Given the description of an element on the screen output the (x, y) to click on. 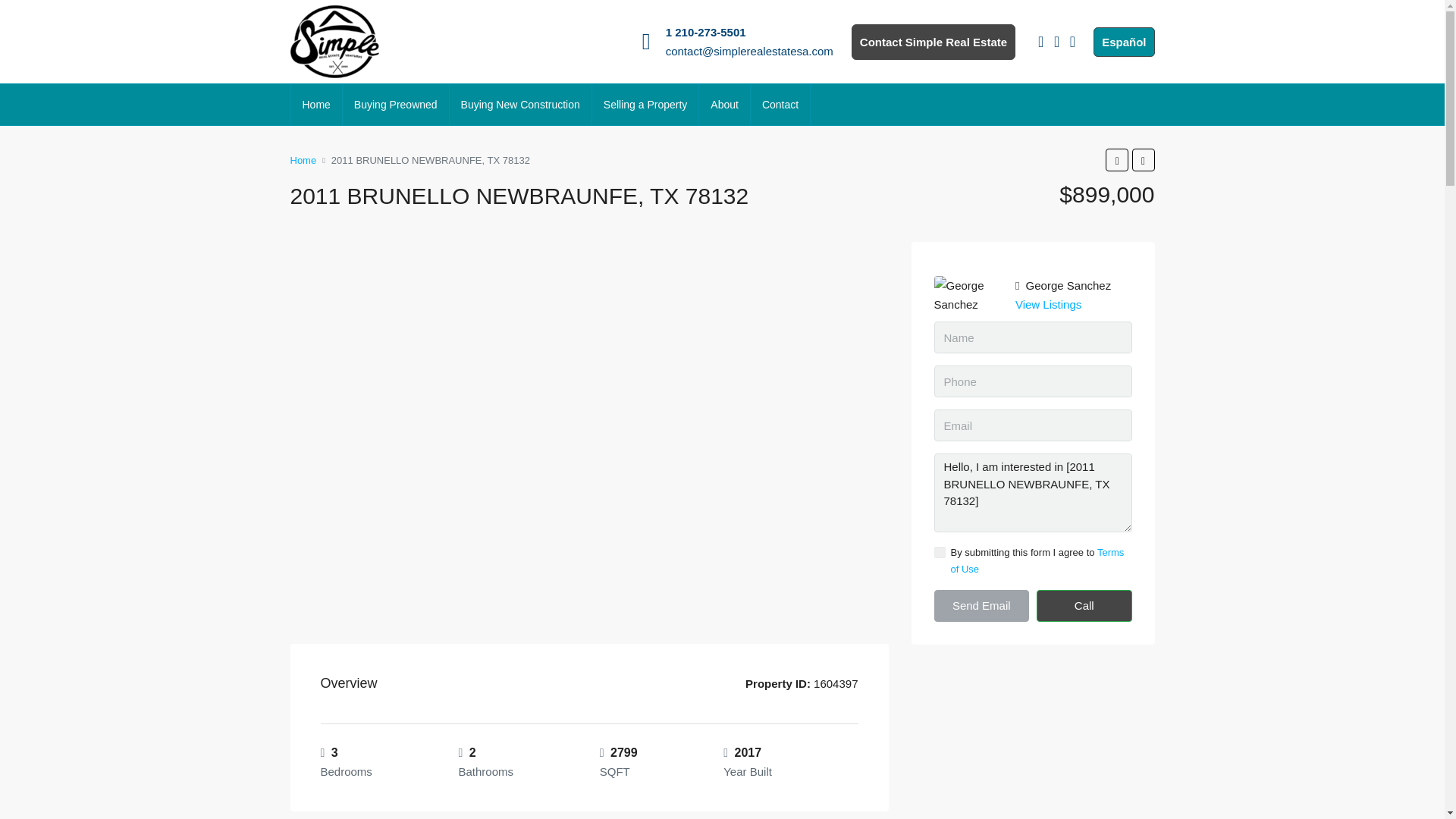
Selling a Property (645, 104)
About (723, 104)
Contact (780, 104)
Home (316, 104)
Contact Simple Real Estate (932, 41)
Buying New Construction (520, 104)
Home (302, 158)
1 210-273-5501 (705, 31)
Buying Preowned (395, 104)
